Given the description of an element on the screen output the (x, y) to click on. 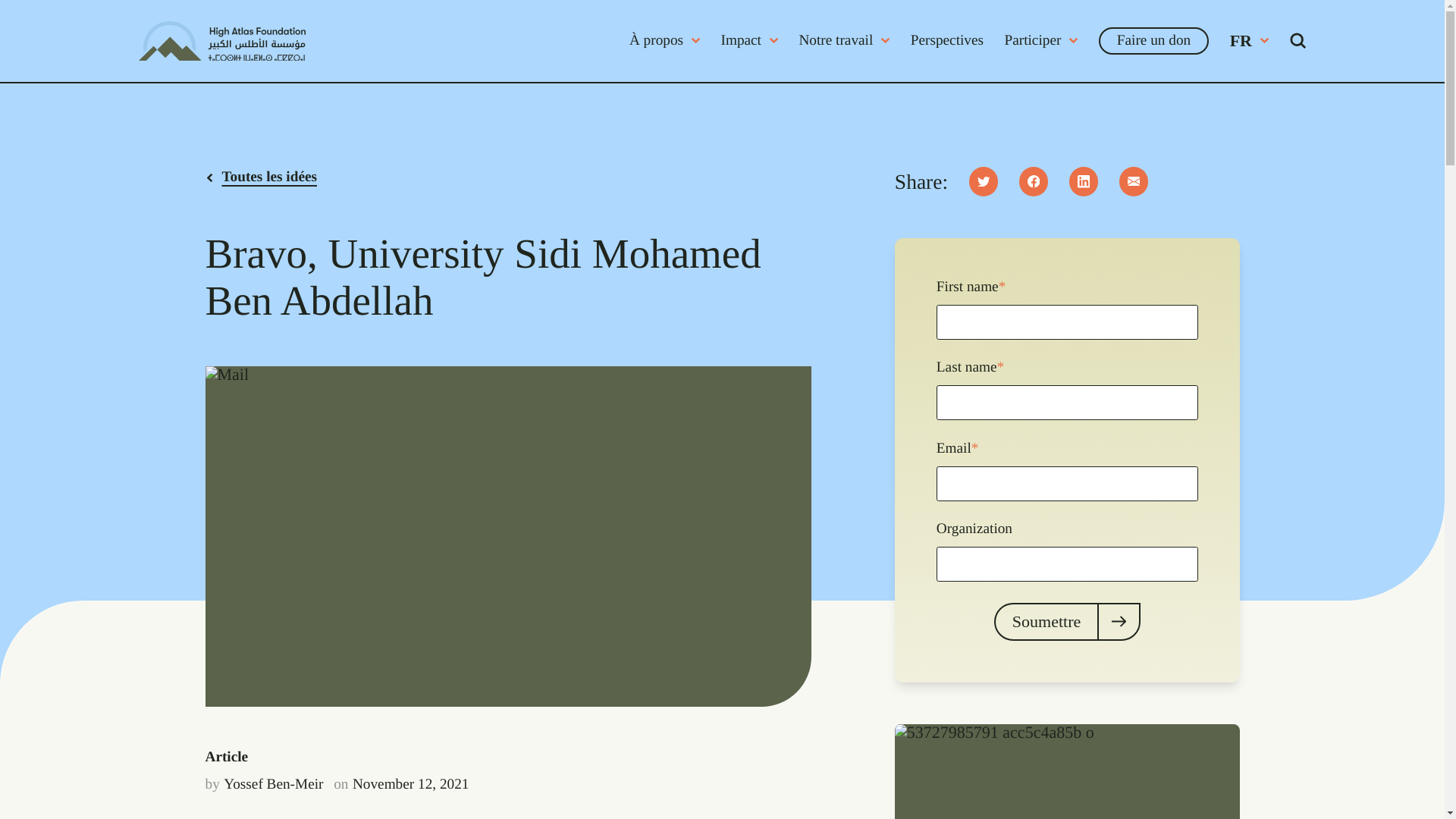
High Atlas Foundation logo (221, 41)
FR (1249, 40)
Perspectives (947, 40)
Notre travail (843, 40)
Notre travail (843, 40)
Participer (1041, 40)
Participer (1041, 40)
Impact (748, 40)
Faire un don (1153, 41)
Impact (748, 40)
